Given the description of an element on the screen output the (x, y) to click on. 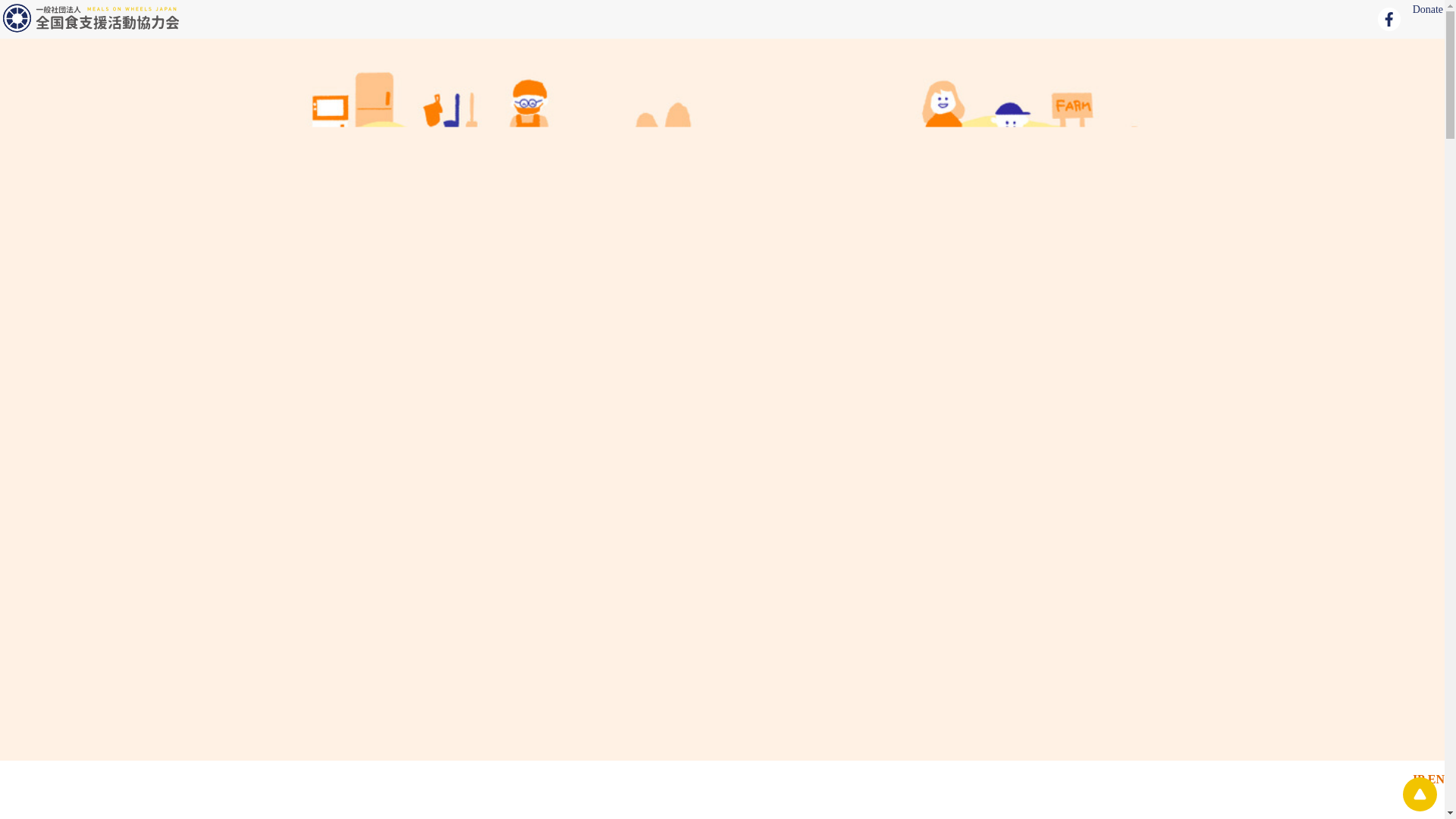
Donate (1424, 9)
JP (1417, 779)
Donate (1424, 9)
